Given the description of an element on the screen output the (x, y) to click on. 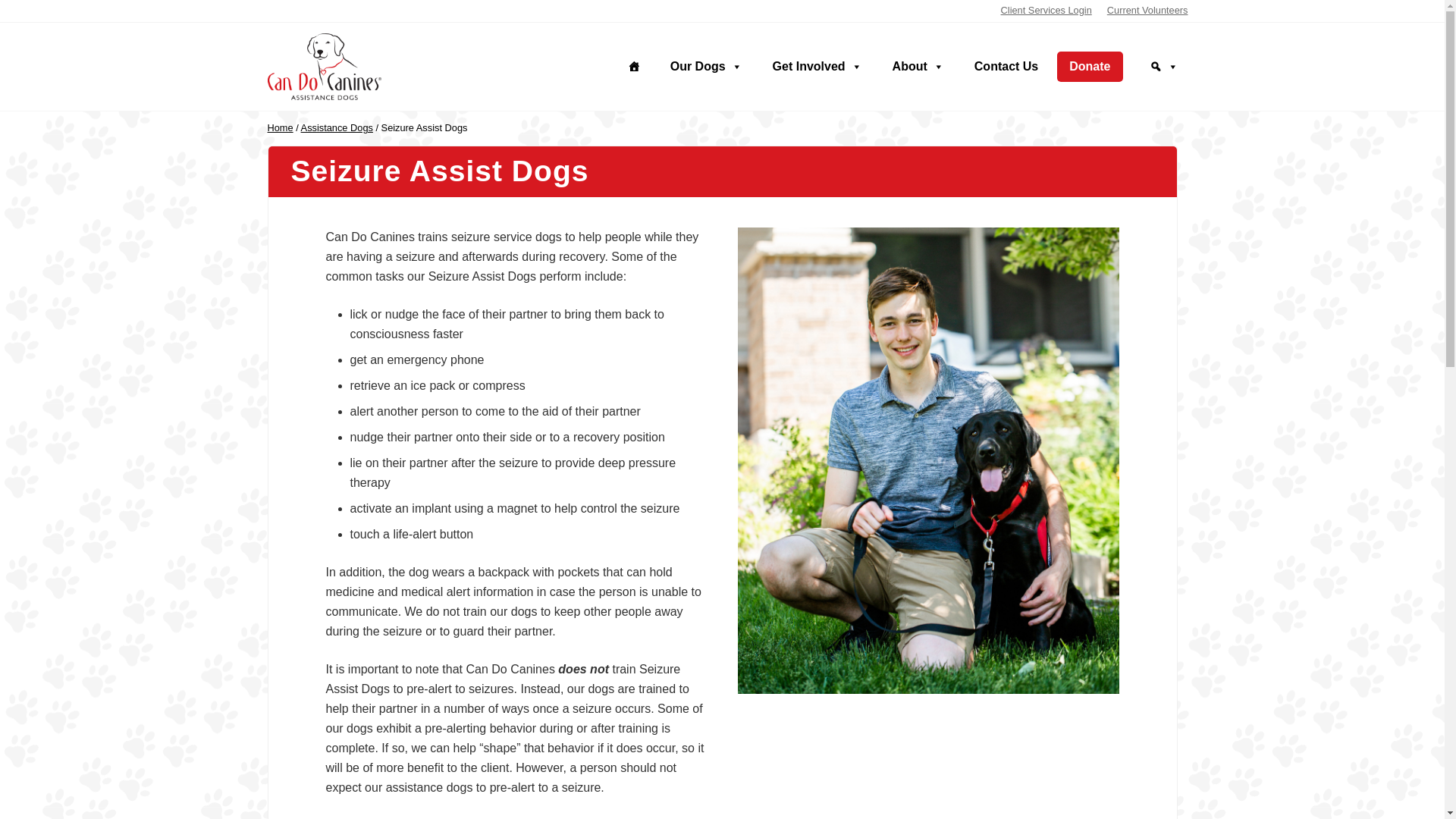
Search (1163, 66)
Get Involved (817, 66)
Our Dogs (706, 66)
Current Volunteers (1147, 11)
Client Services Login (1045, 11)
